Given the description of an element on the screen output the (x, y) to click on. 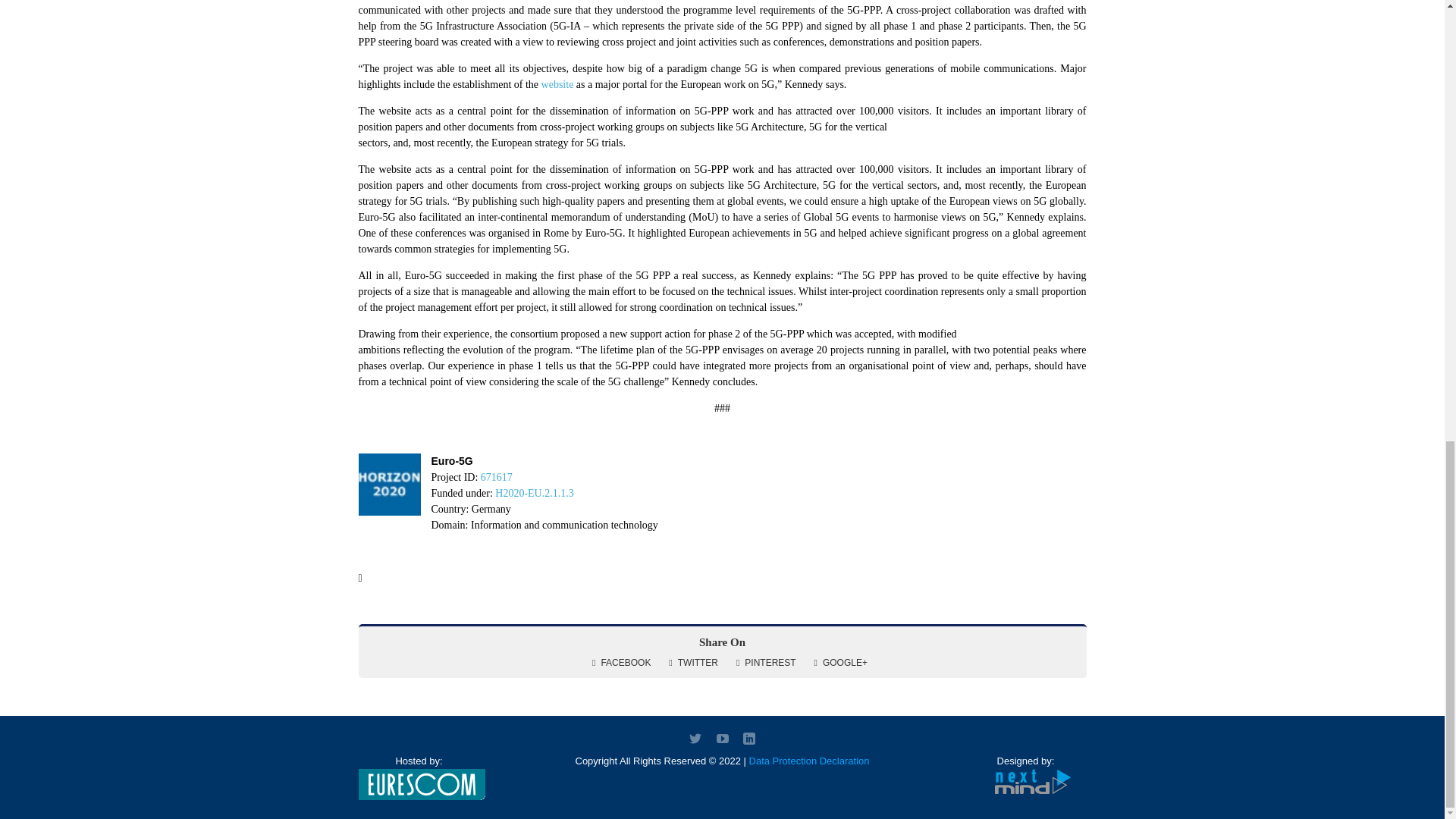
Linkedin (748, 738)
Youtube (722, 738)
